Given the description of an element on the screen output the (x, y) to click on. 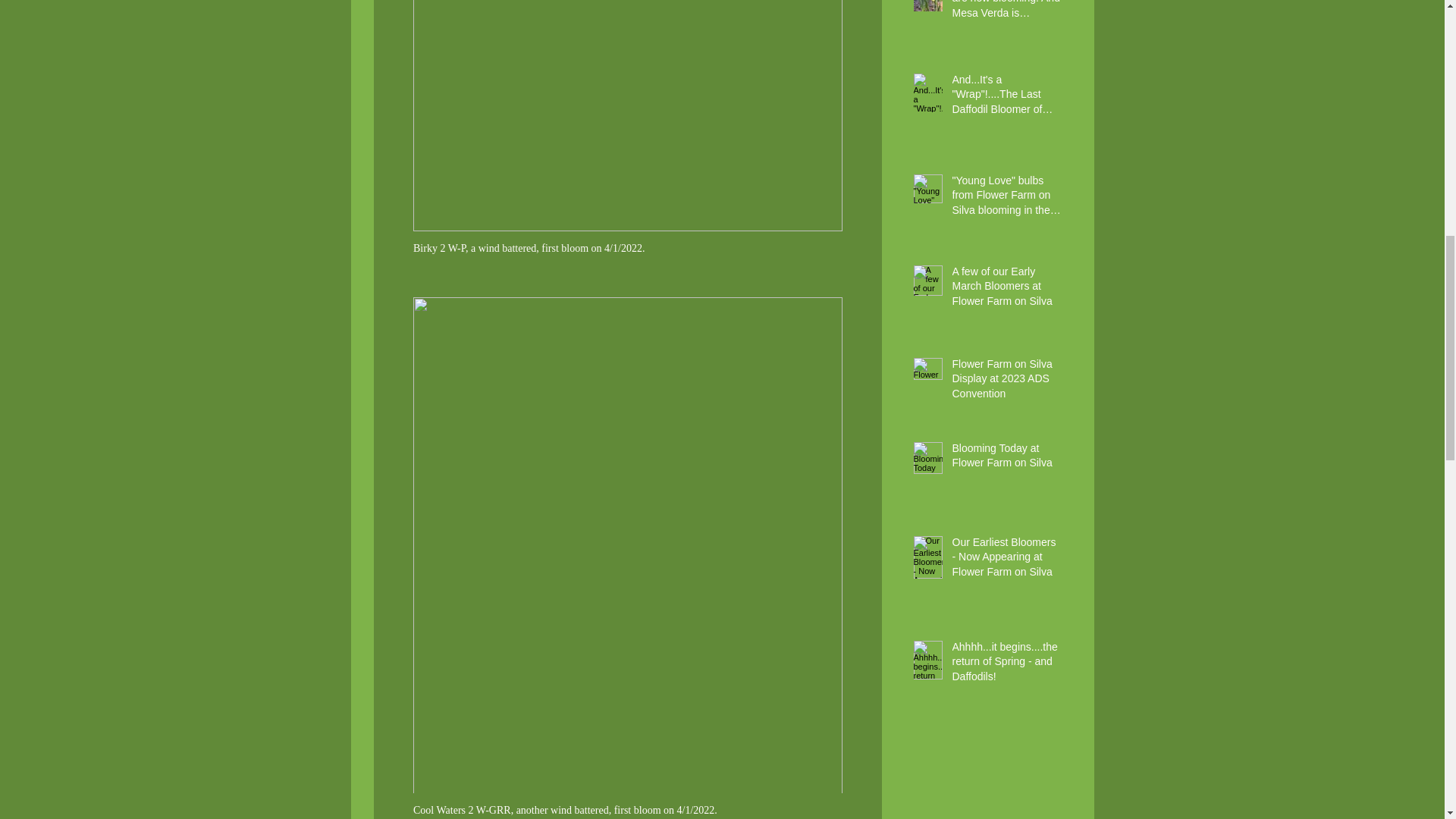
A few of our Early March Bloomers at Flower Farm on Silva (1006, 289)
Flower Farm on Silva Display at 2023 ADS Convention (1006, 382)
And...It's a "Wrap"!....The Last Daffodil Bloomer of 2023 (1006, 97)
Ahhhh...it begins....the return of Spring - and Daffodils! (1006, 665)
Blooming Today at Flower Farm on Silva (1006, 458)
